Given the description of an element on the screen output the (x, y) to click on. 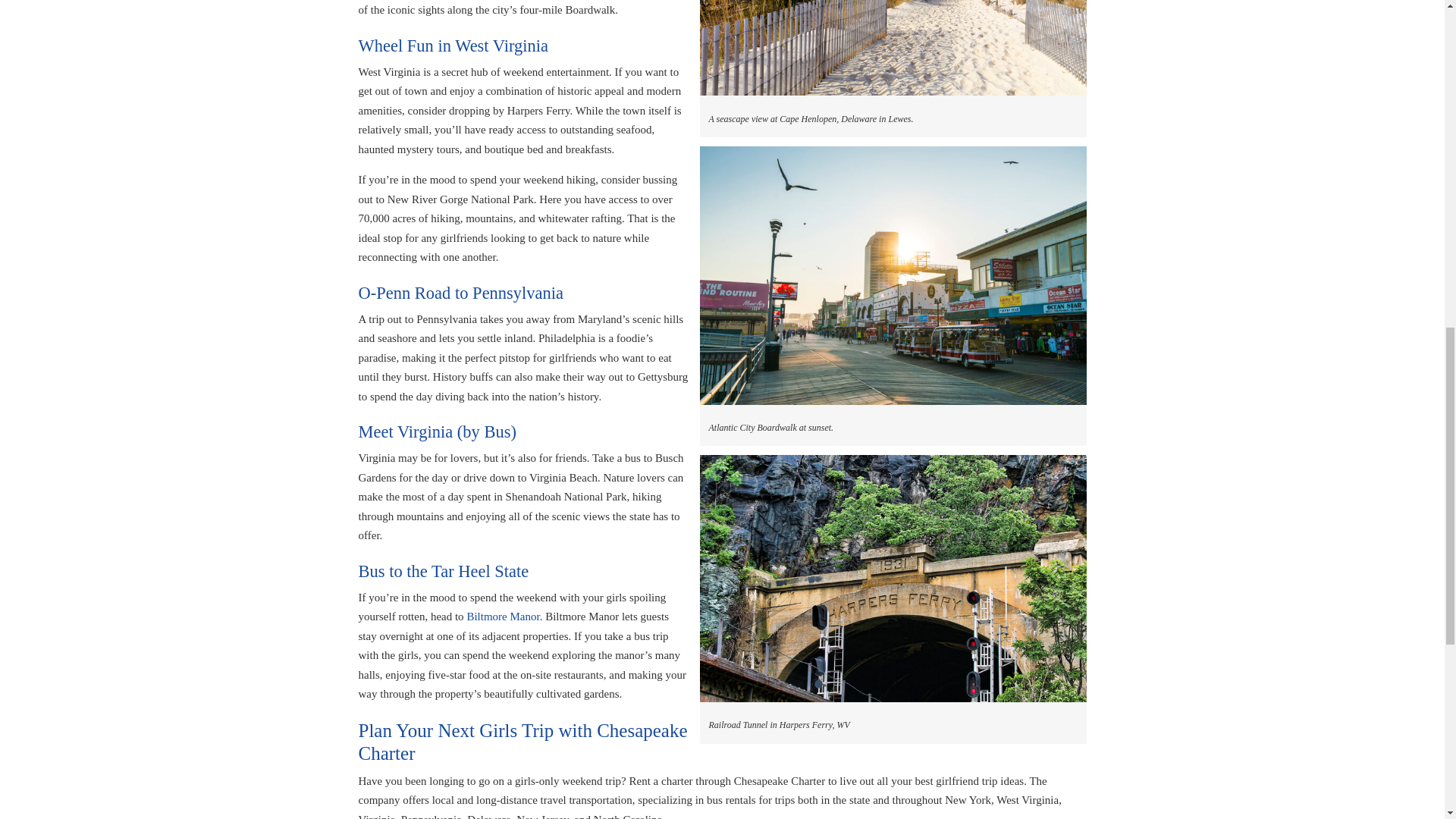
Biltmore Manor (501, 616)
